Given the description of an element on the screen output the (x, y) to click on. 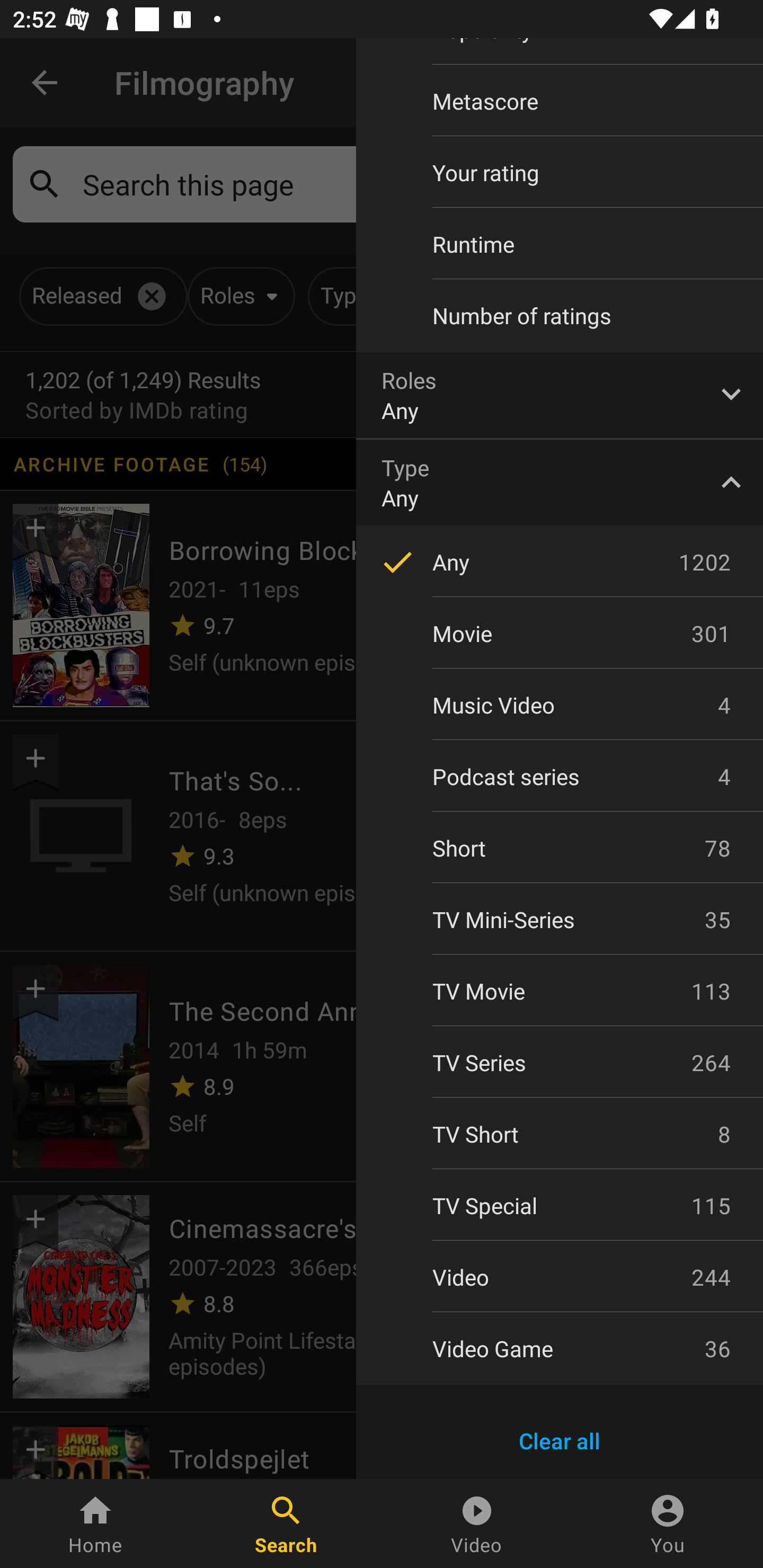
Metascore (559, 100)
Your rating (559, 171)
Runtime (559, 243)
Number of ratings (559, 315)
Roles Any (559, 394)
Type Any (559, 482)
Any 1202 (559, 561)
Movie 301 (559, 632)
Music Video 4 (559, 704)
Podcast series 4 (559, 776)
Short 78 (559, 847)
TV Mini-Series 35 (559, 919)
TV Movie 113 (559, 990)
TV Series 264 (559, 1062)
TV Short 8 (559, 1134)
TV Special 115 (559, 1205)
Video 244 (559, 1276)
Video Game 36 (559, 1347)
Clear all (559, 1440)
Home (95, 1523)
Video (476, 1523)
You (667, 1523)
